Given the description of an element on the screen output the (x, y) to click on. 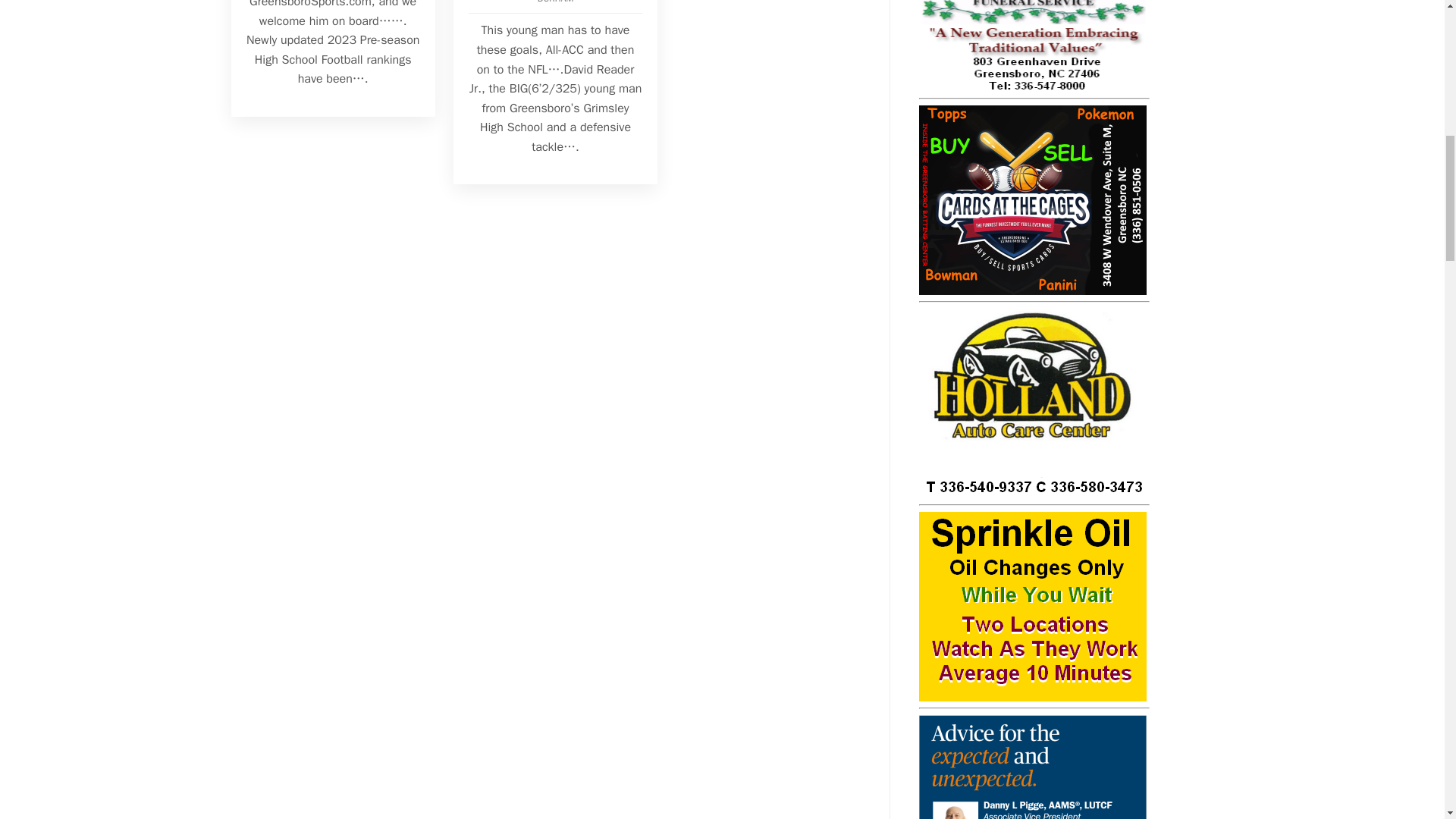
ANDY DURHAM (582, 2)
